Given the description of an element on the screen output the (x, y) to click on. 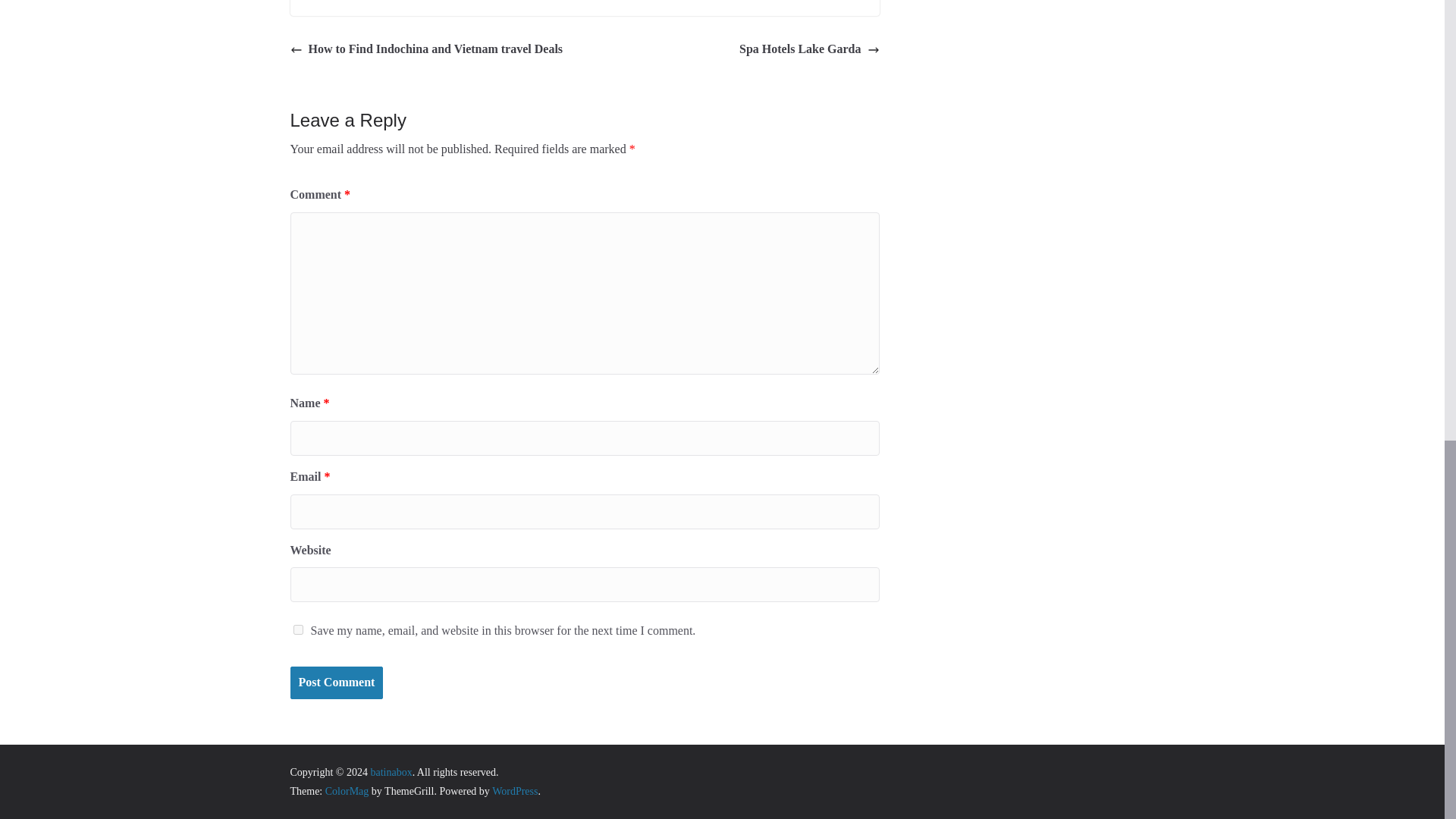
How to Find Indochina and Vietnam travel Deals (425, 49)
ColorMag (346, 790)
Post Comment (335, 682)
batinabox (390, 772)
WordPress (514, 790)
WordPress (514, 790)
yes (297, 629)
ColorMag (346, 790)
Spa Hotels Lake Garda (809, 49)
Post Comment (335, 682)
batinabox (390, 772)
